Given the description of an element on the screen output the (x, y) to click on. 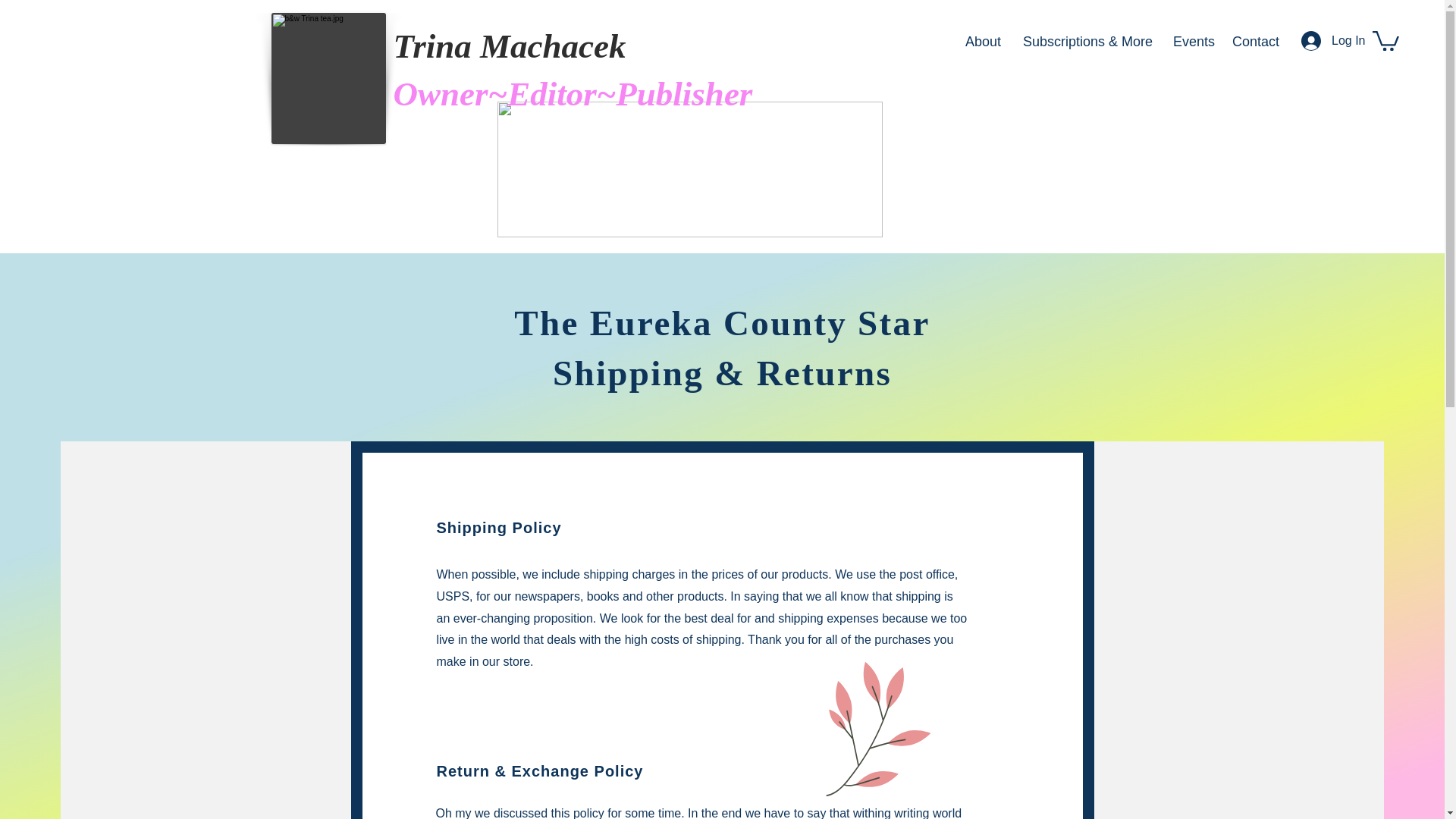
Contact (1254, 41)
Events (1191, 41)
About (982, 41)
Log In (1321, 40)
